Given the description of an element on the screen output the (x, y) to click on. 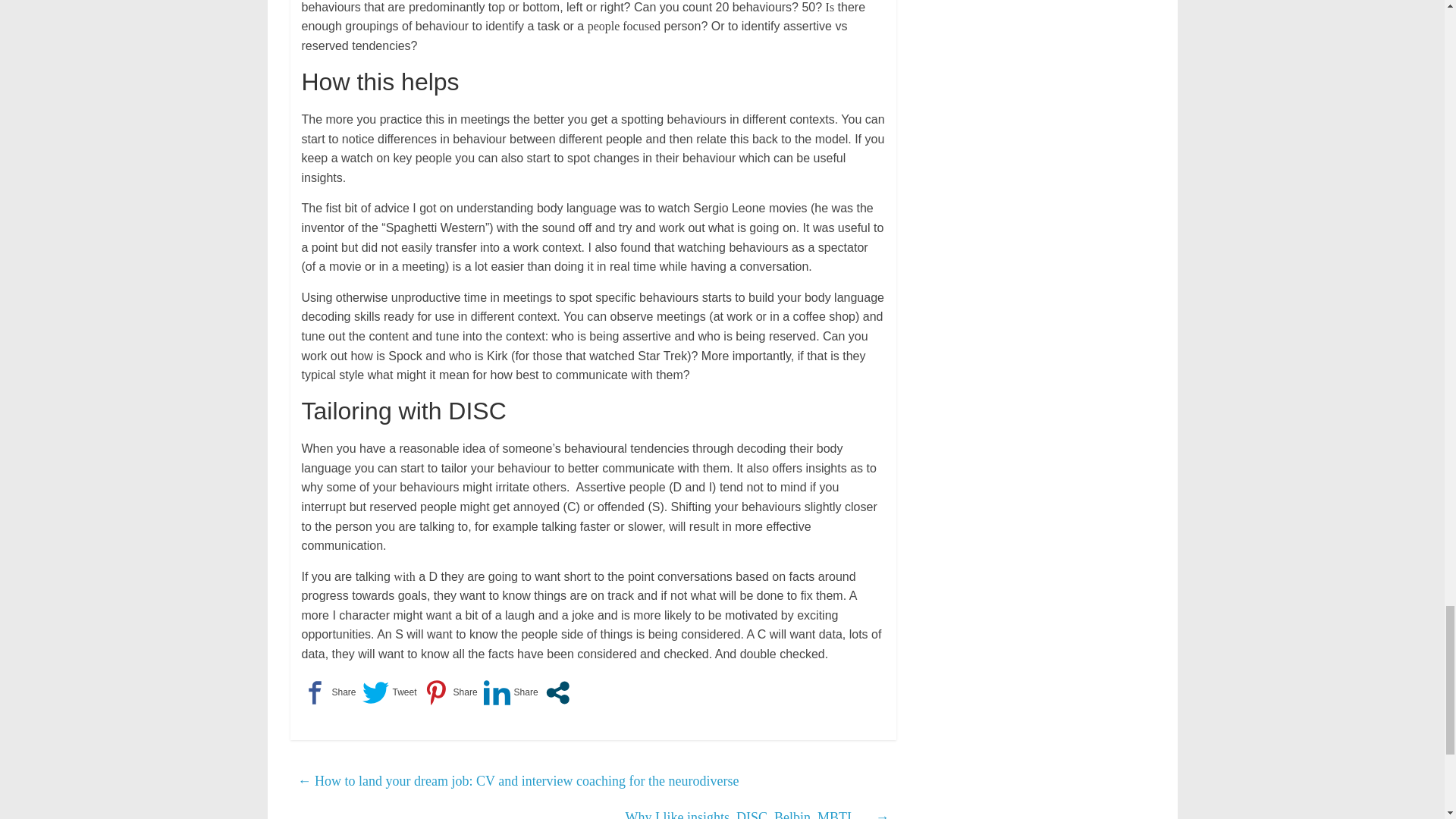
Share on Facebook (328, 692)
Share on Linkedin (510, 692)
Open modal social networks (557, 692)
Share on Pinterest (450, 692)
Tweet (389, 692)
